Given the description of an element on the screen output the (x, y) to click on. 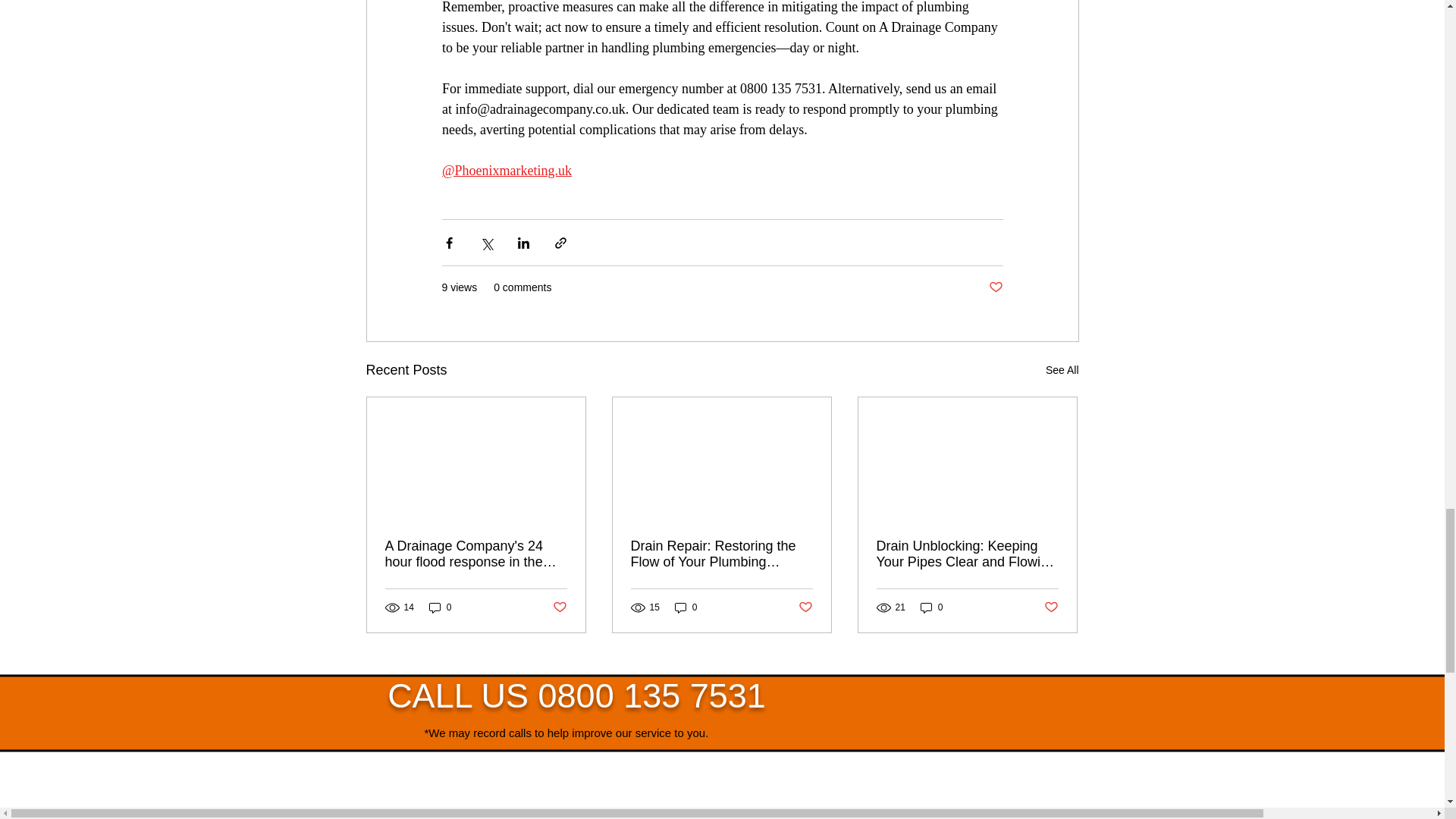
See All (1061, 370)
Post not marked as liked (995, 287)
